Given the description of an element on the screen output the (x, y) to click on. 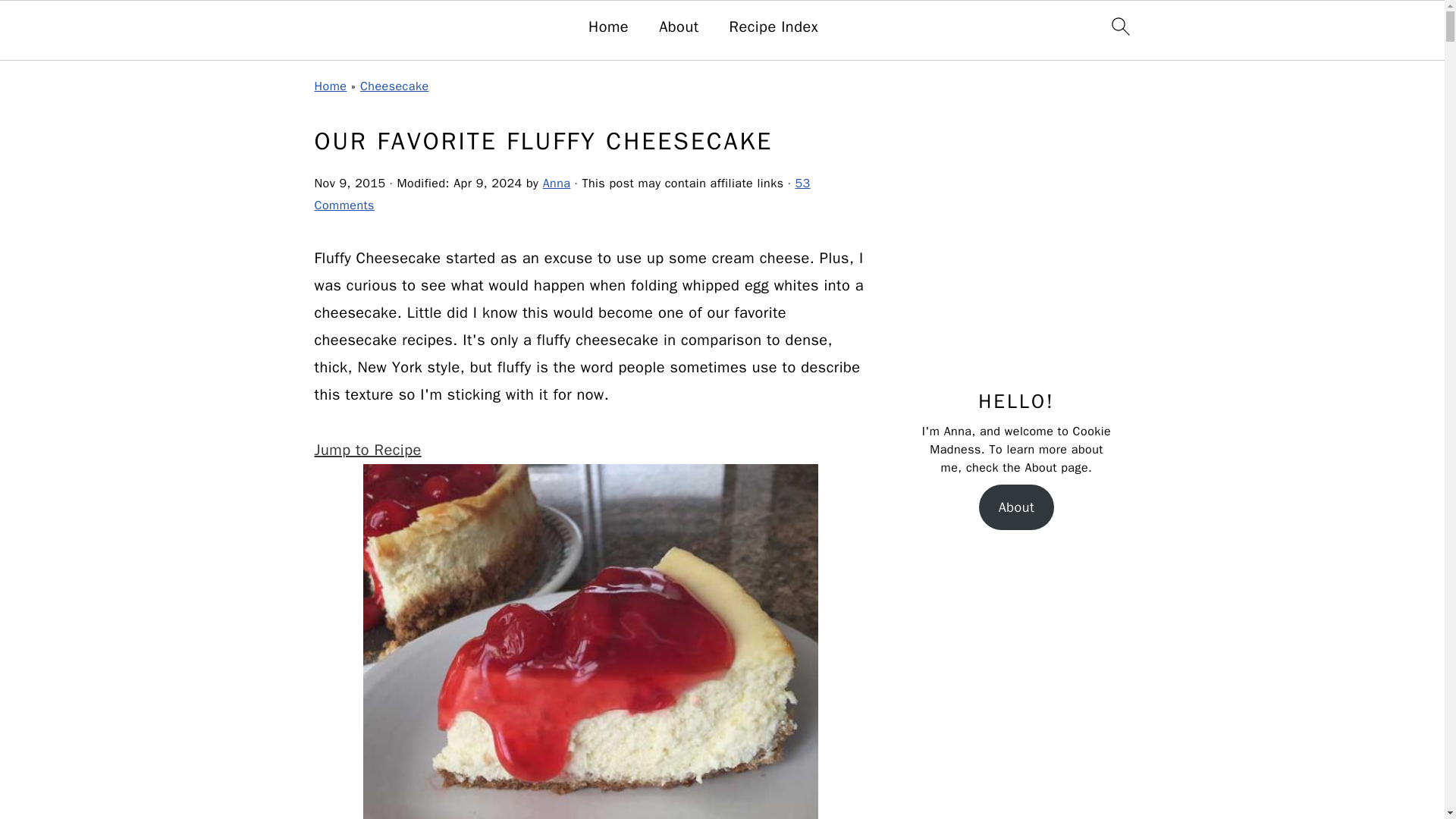
search icon (1119, 26)
About (678, 27)
Jump to Recipe (367, 449)
Home (330, 86)
53 Comments (561, 194)
Home (608, 27)
Recipe Index (773, 27)
Cheesecake (394, 86)
Anna (556, 183)
